Given the description of an element on the screen output the (x, y) to click on. 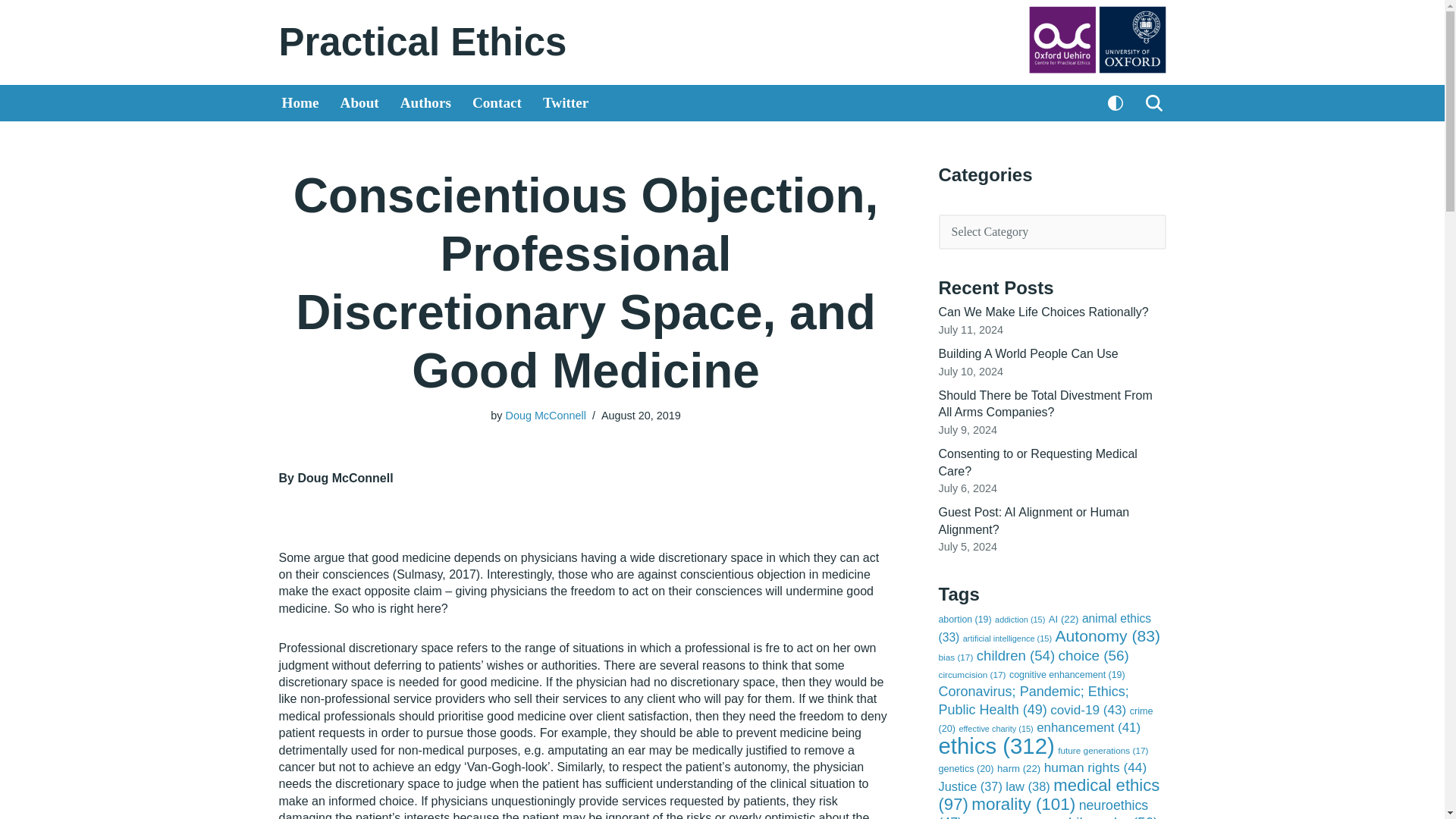
Doug McConnell (545, 415)
Building A World People Can Use (1028, 353)
Home (300, 102)
Posts by Doug McConnell (545, 415)
Can We Make Life Choices Rationally? (1043, 311)
Should There be Total Divestment From All Arms Companies? (1046, 403)
Consenting to or Requesting Medical Care? (1038, 461)
Twitter (565, 102)
Contact (496, 102)
Practical Ethics (423, 41)
Guest Post: AI Alignment or Human Alignment? (1034, 520)
Authors (425, 102)
About (359, 102)
Skip to content (11, 31)
